Given the description of an element on the screen output the (x, y) to click on. 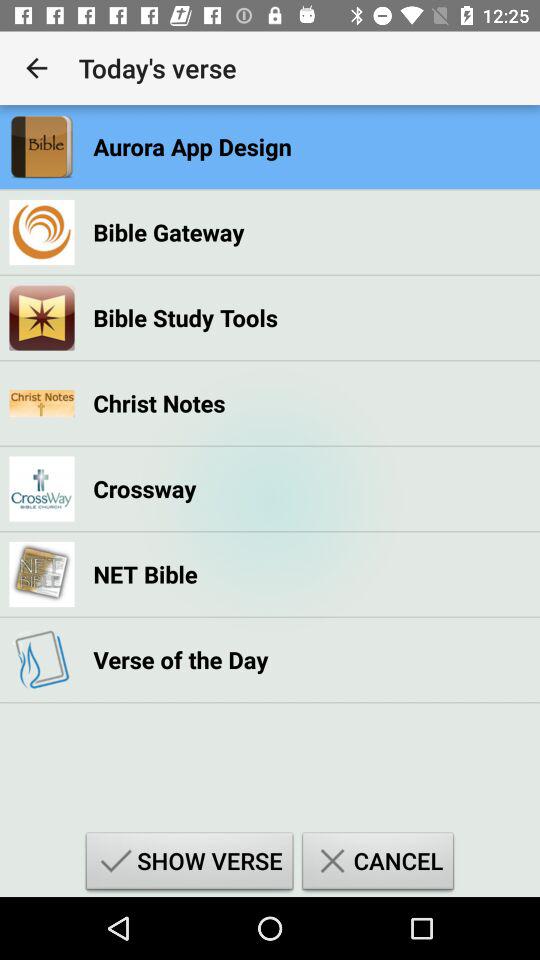
choose the christ notes item (159, 403)
